Given the description of an element on the screen output the (x, y) to click on. 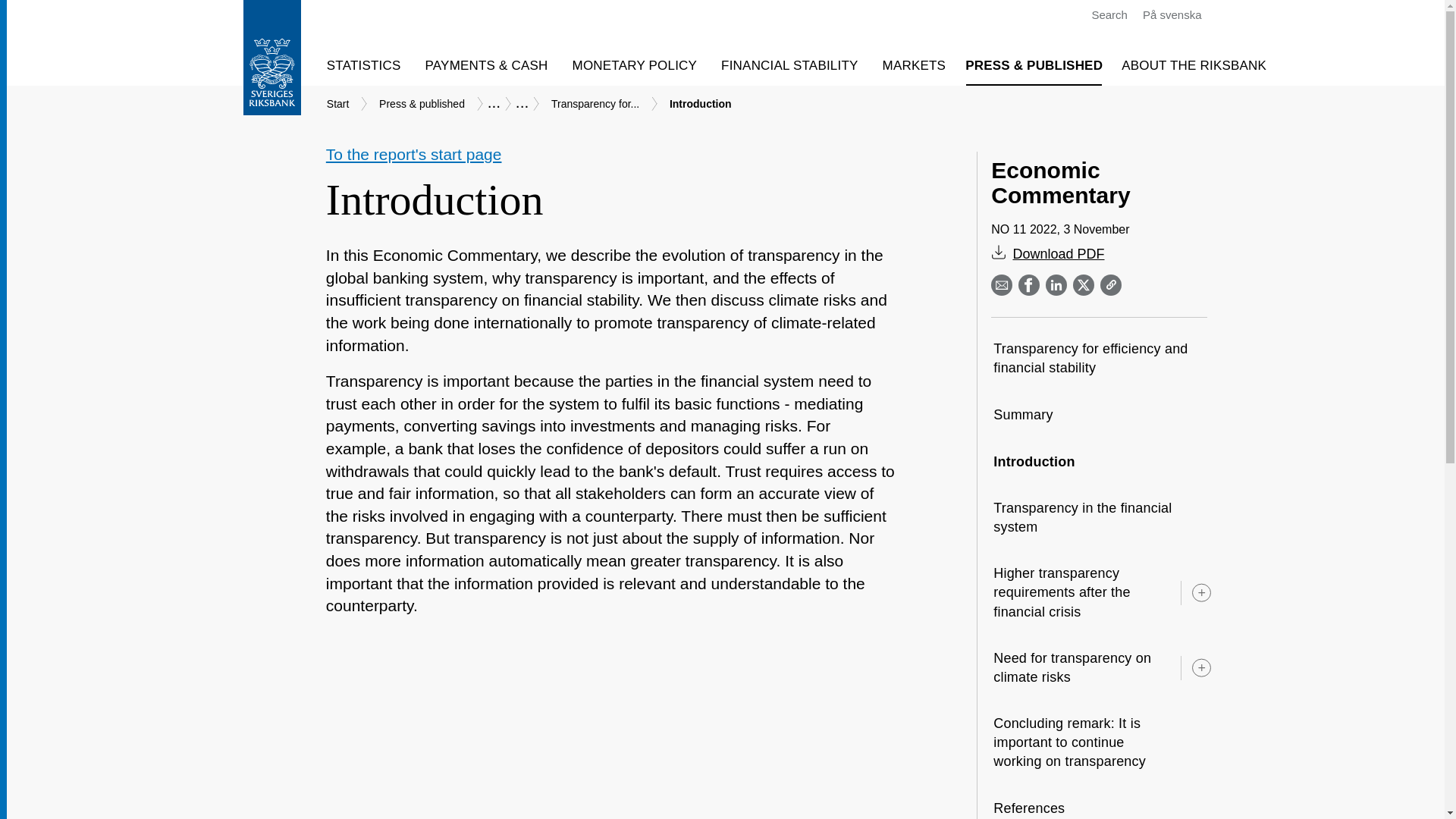
Need for transparency on climate risks (1077, 668)
Summary (1038, 415)
Introduction (1049, 461)
STATISTICS (368, 65)
References (1044, 802)
Transparency for efficiency and financial stability (1098, 358)
Higher transparency requirements after the financial crisis (1077, 592)
Transparency in the financial system (1098, 517)
